Given the description of an element on the screen output the (x, y) to click on. 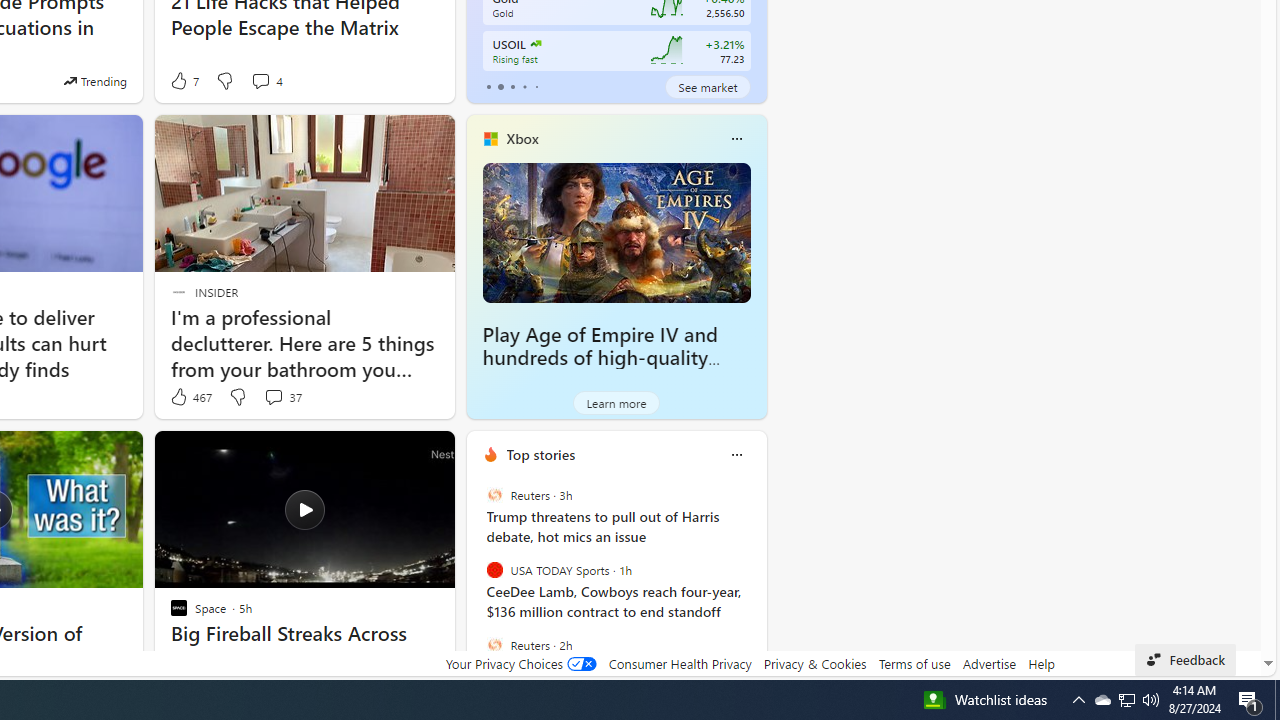
This story is trending (95, 80)
tab-4 (535, 86)
Reuters (494, 644)
next (756, 583)
Privacy & Cookies (814, 663)
Your Privacy Choices (520, 663)
tab-1 (500, 86)
USA TODAY Sports (494, 570)
Terms of use (914, 663)
View comments 4 Comment (265, 80)
